Given the description of an element on the screen output the (x, y) to click on. 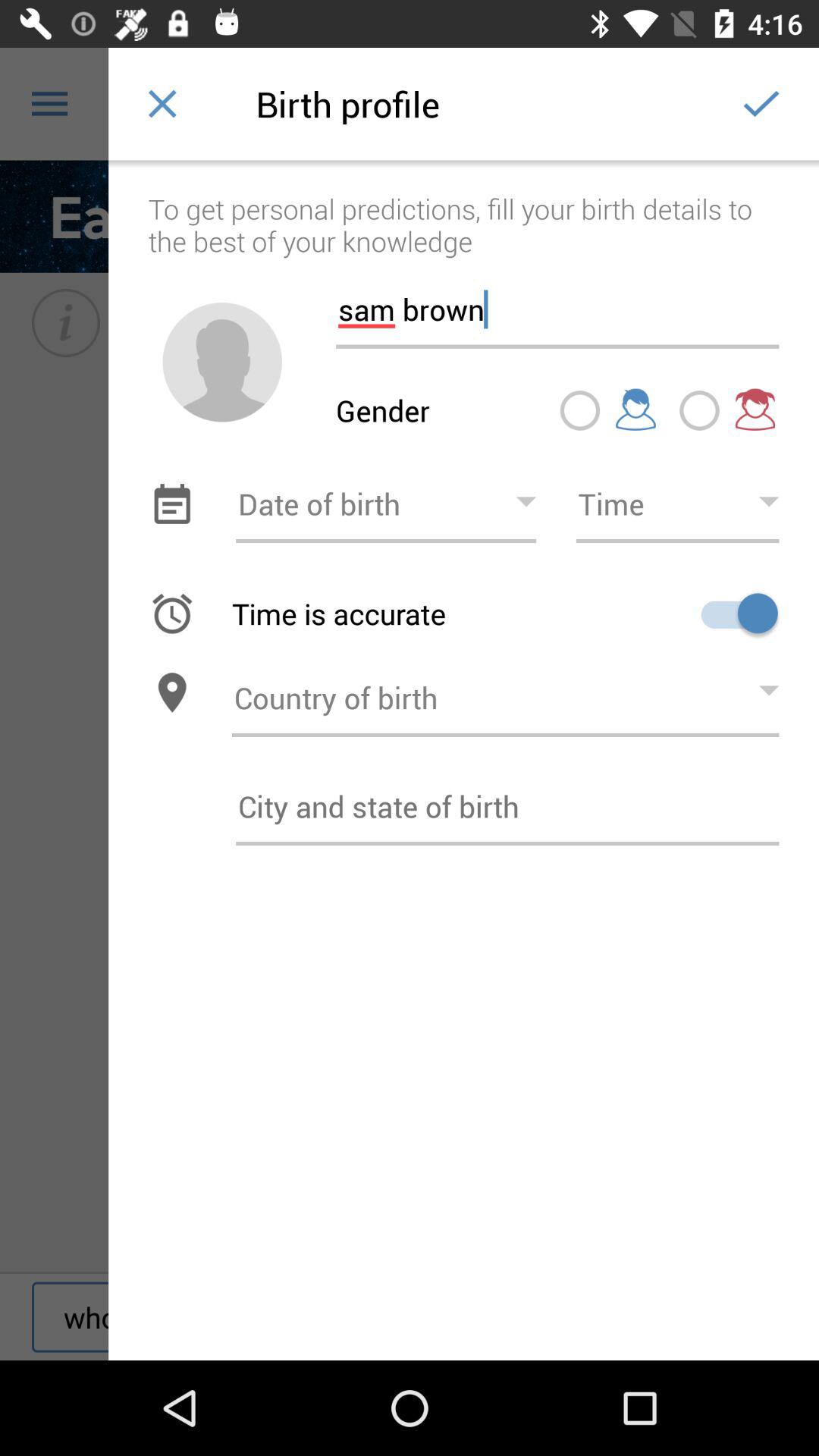
shows mark place option (580, 410)
